Given the description of an element on the screen output the (x, y) to click on. 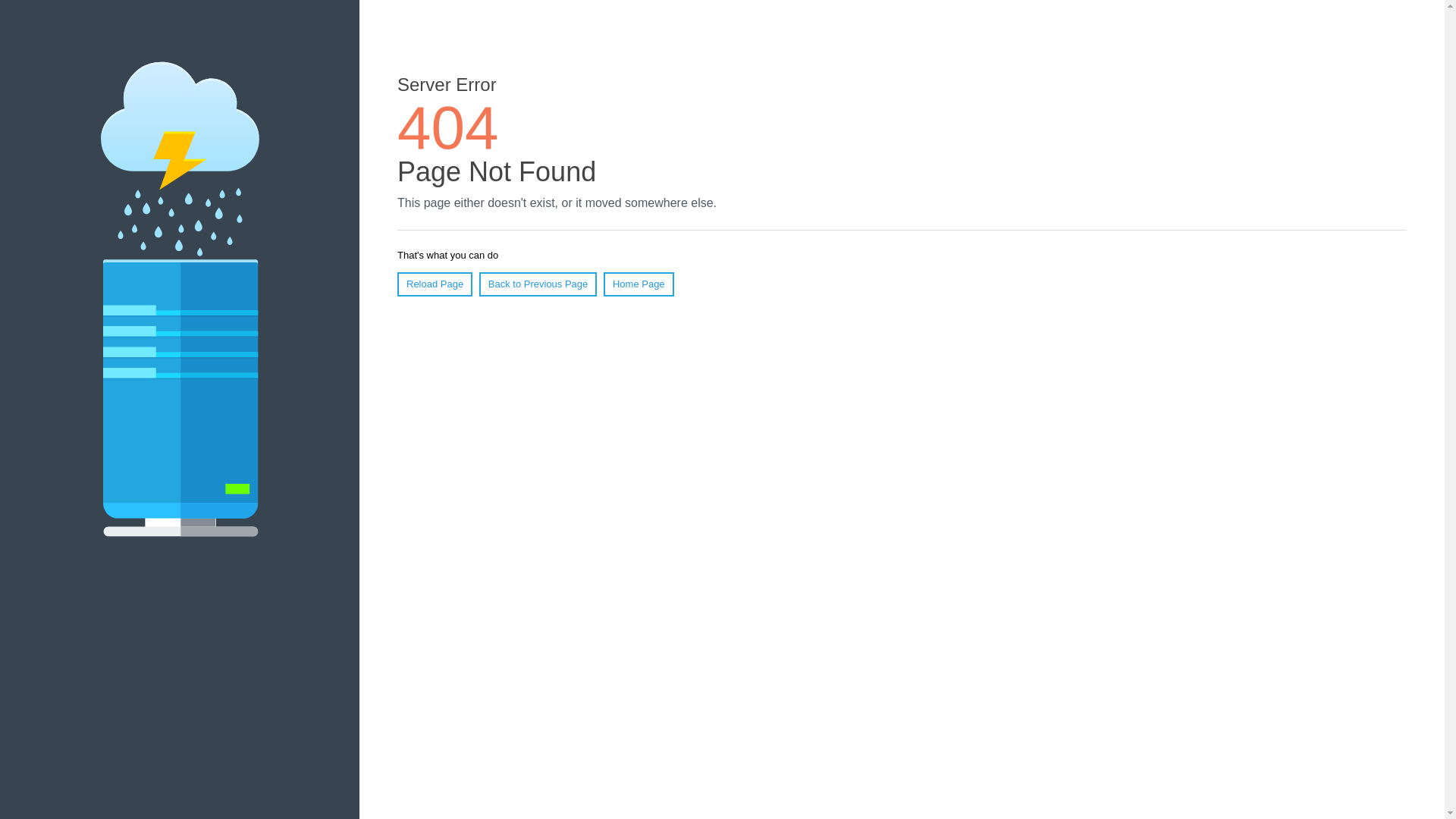
Back to Previous Page Element type: text (538, 284)
Reload Page Element type: text (434, 284)
Home Page Element type: text (638, 284)
